Given the description of an element on the screen output the (x, y) to click on. 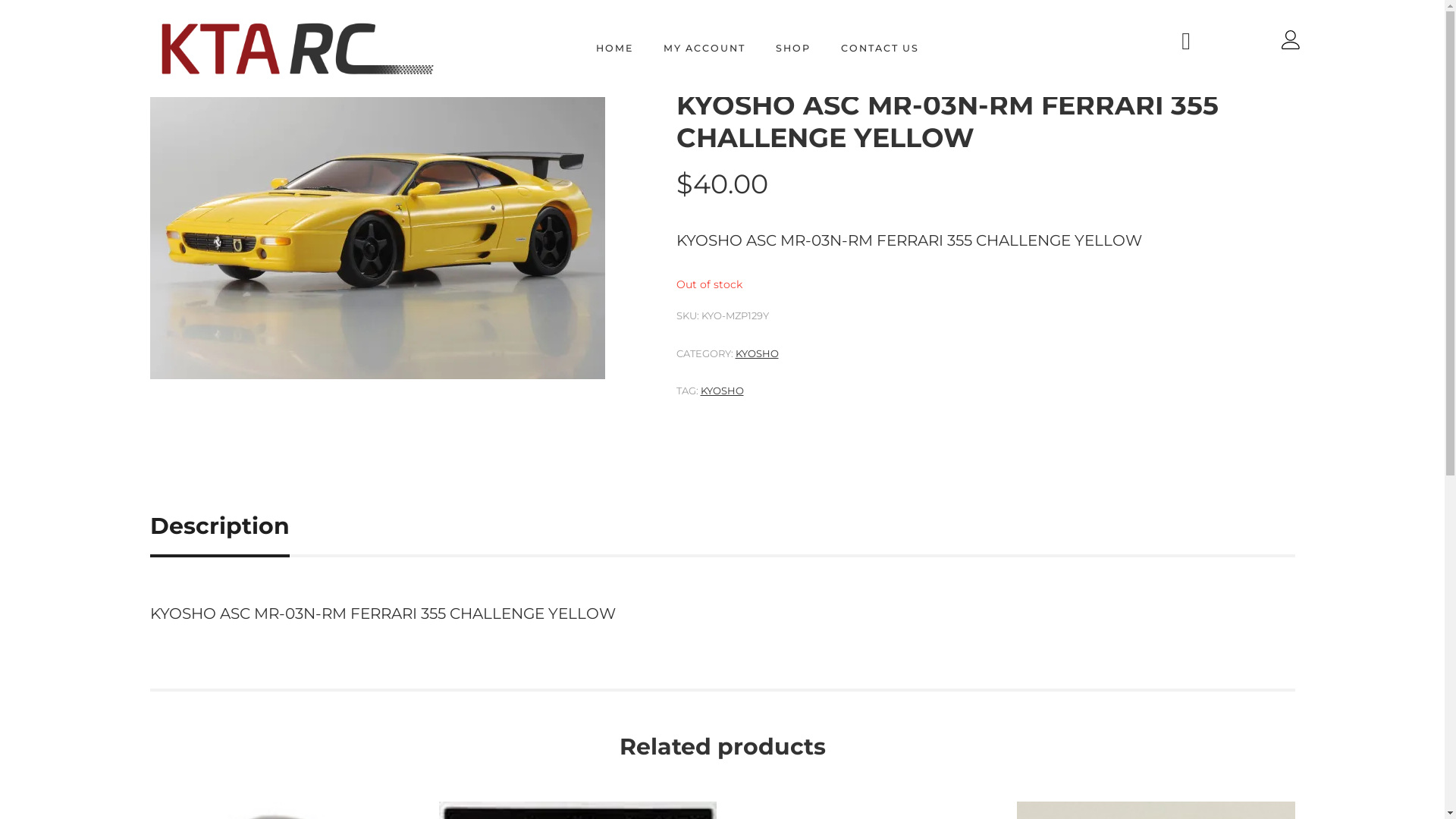
CONTACT US Element type: text (879, 48)
facebook Element type: hover (1185, 40)
SHOP Element type: text (792, 48)
HOME Element type: text (614, 48)
OPTION PARTS Element type: text (767, 61)
HOME Element type: text (694, 61)
MY ACCOUNT Element type: text (704, 48)
KYOSHO Element type: text (721, 390)
KYO-MZP129Y-a Element type: hover (377, 208)
Description Element type: text (219, 527)
KYOSHO Element type: text (756, 353)
KYOSHO Element type: text (847, 61)
